Given the description of an element on the screen output the (x, y) to click on. 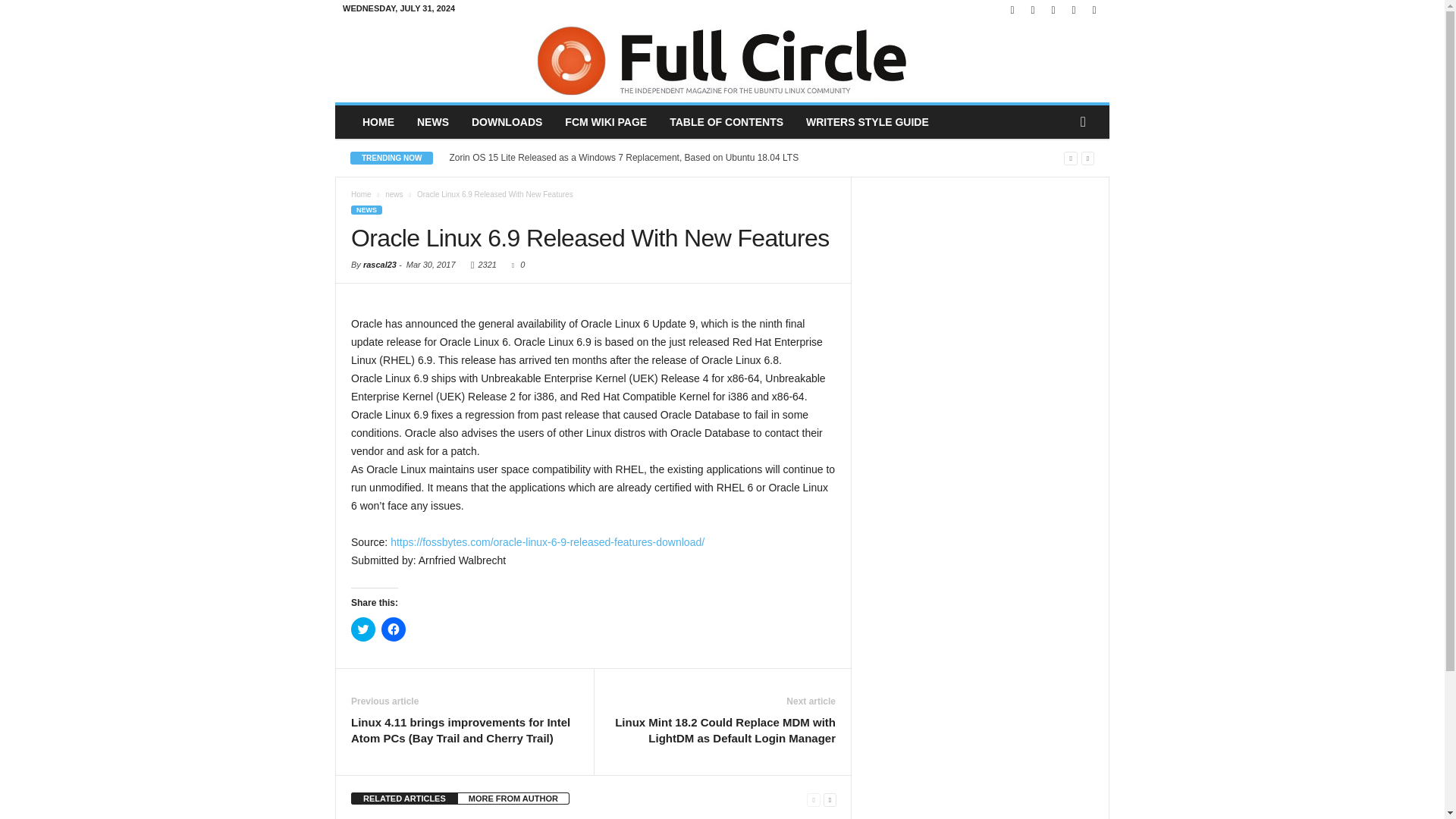
Twitter (1093, 10)
Facebook (1012, 10)
NEWS (433, 121)
Click to share on Twitter (362, 629)
TABLE OF CONTENTS (726, 121)
RSS (1073, 10)
HOME (378, 121)
Linkedin (1052, 10)
DOWNLOADS (506, 121)
WRITERS STYLE GUIDE (867, 121)
View all posts in news (394, 194)
FCM WIKI PAGE (605, 121)
